Given the description of an element on the screen output the (x, y) to click on. 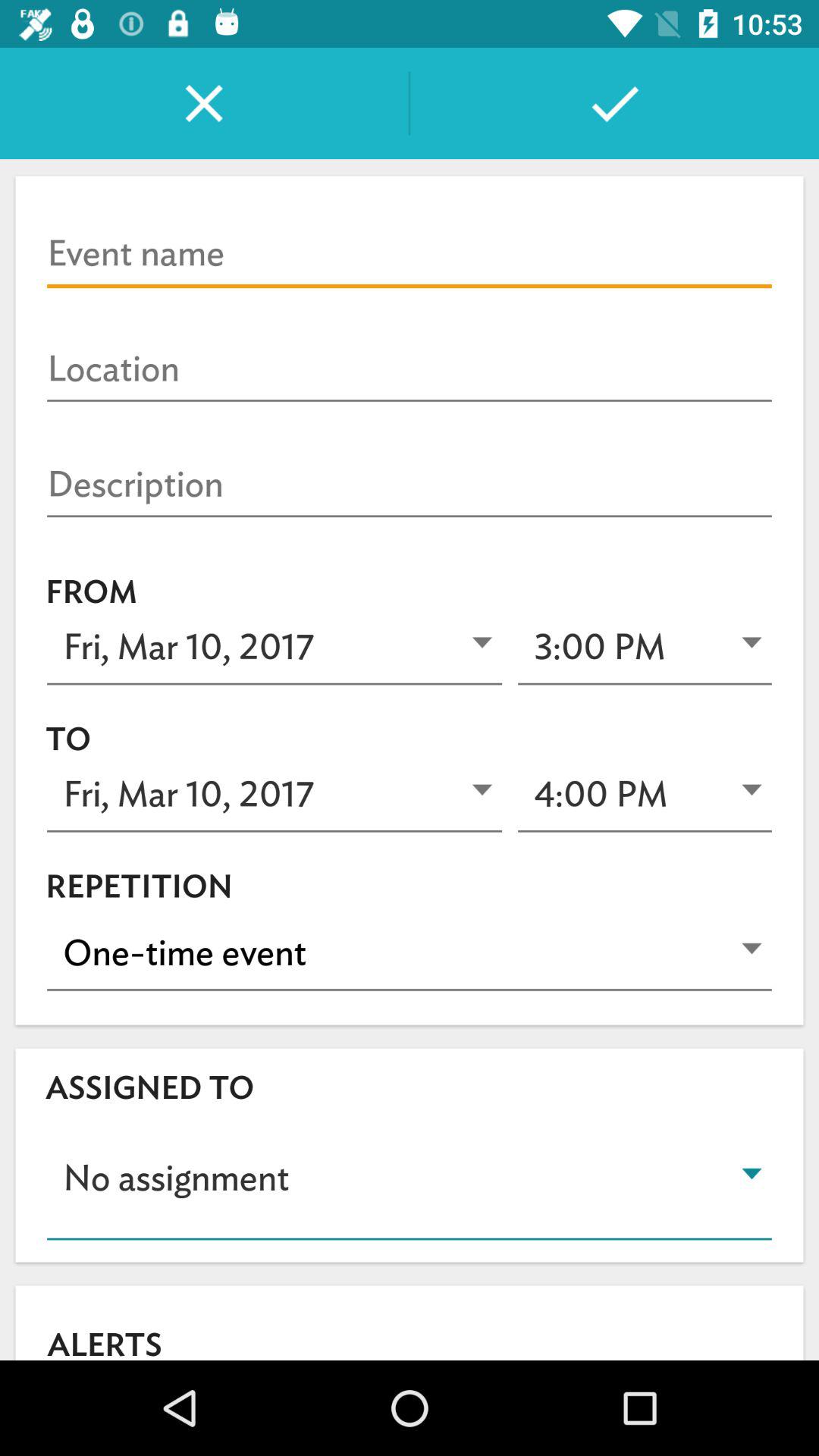
tap icon above assigned to item (409, 953)
